Given the description of an element on the screen output the (x, y) to click on. 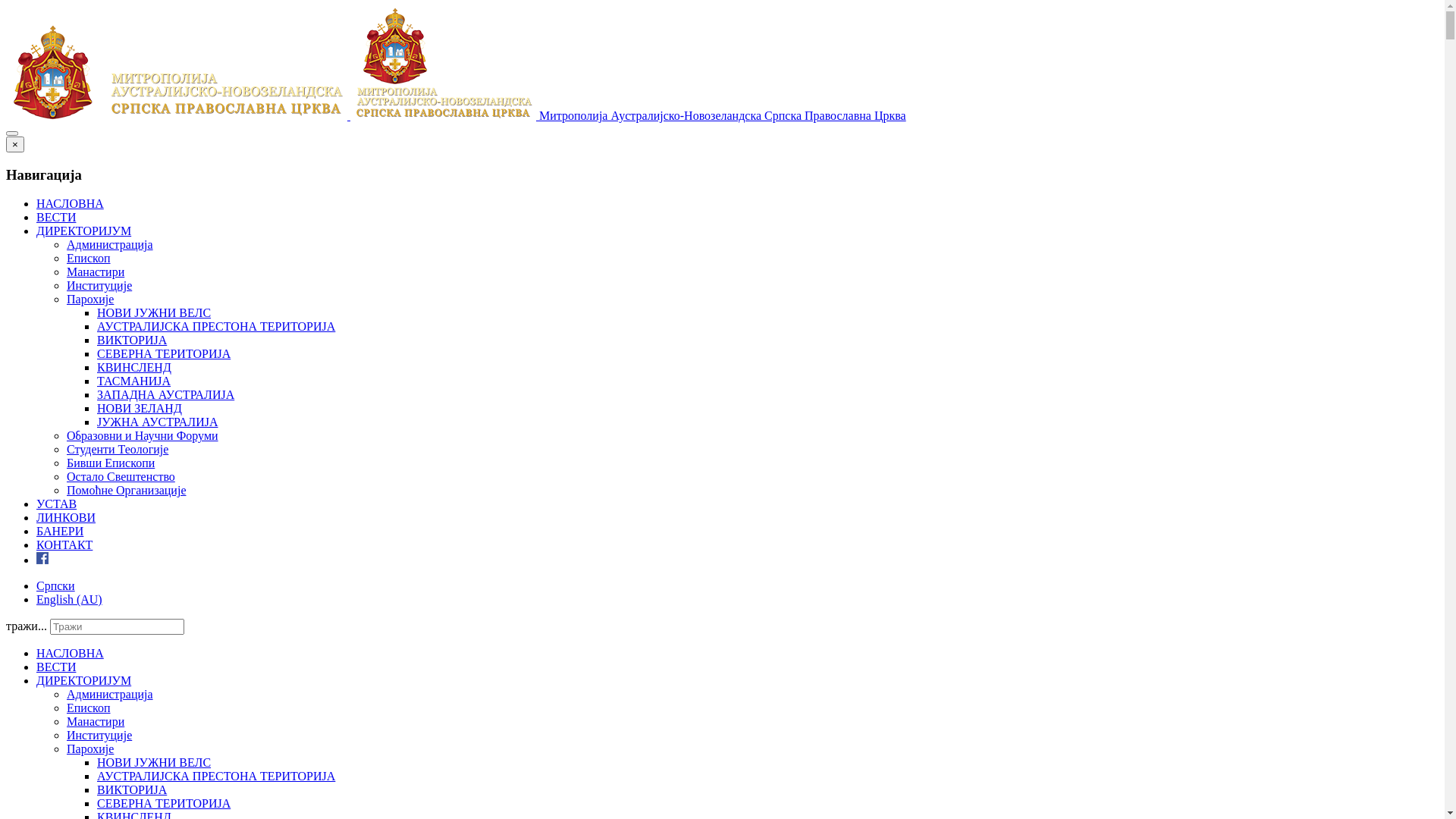
English (AU) Element type: text (69, 599)
